Given the description of an element on the screen output the (x, y) to click on. 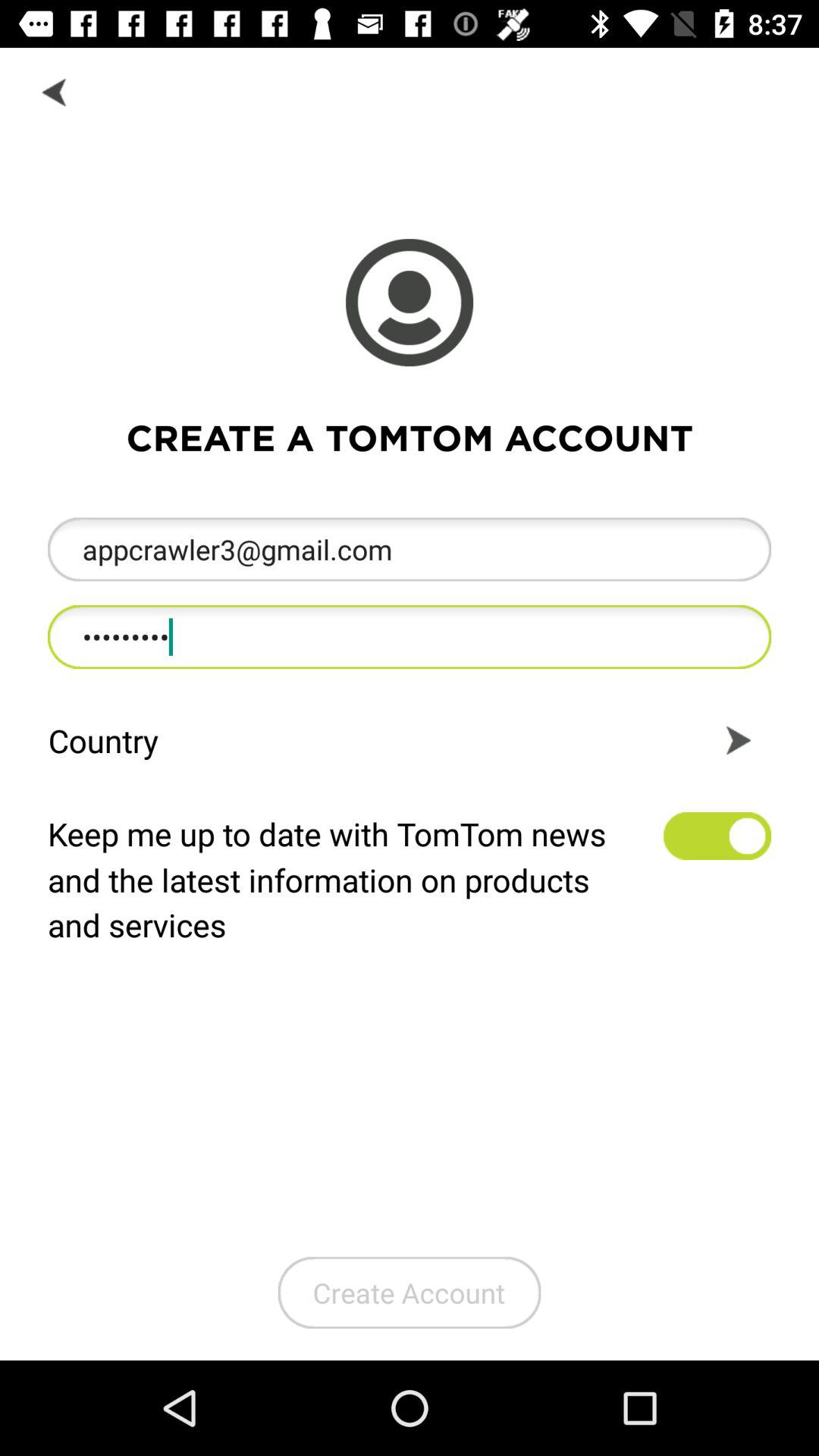
keep on (717, 835)
